Given the description of an element on the screen output the (x, y) to click on. 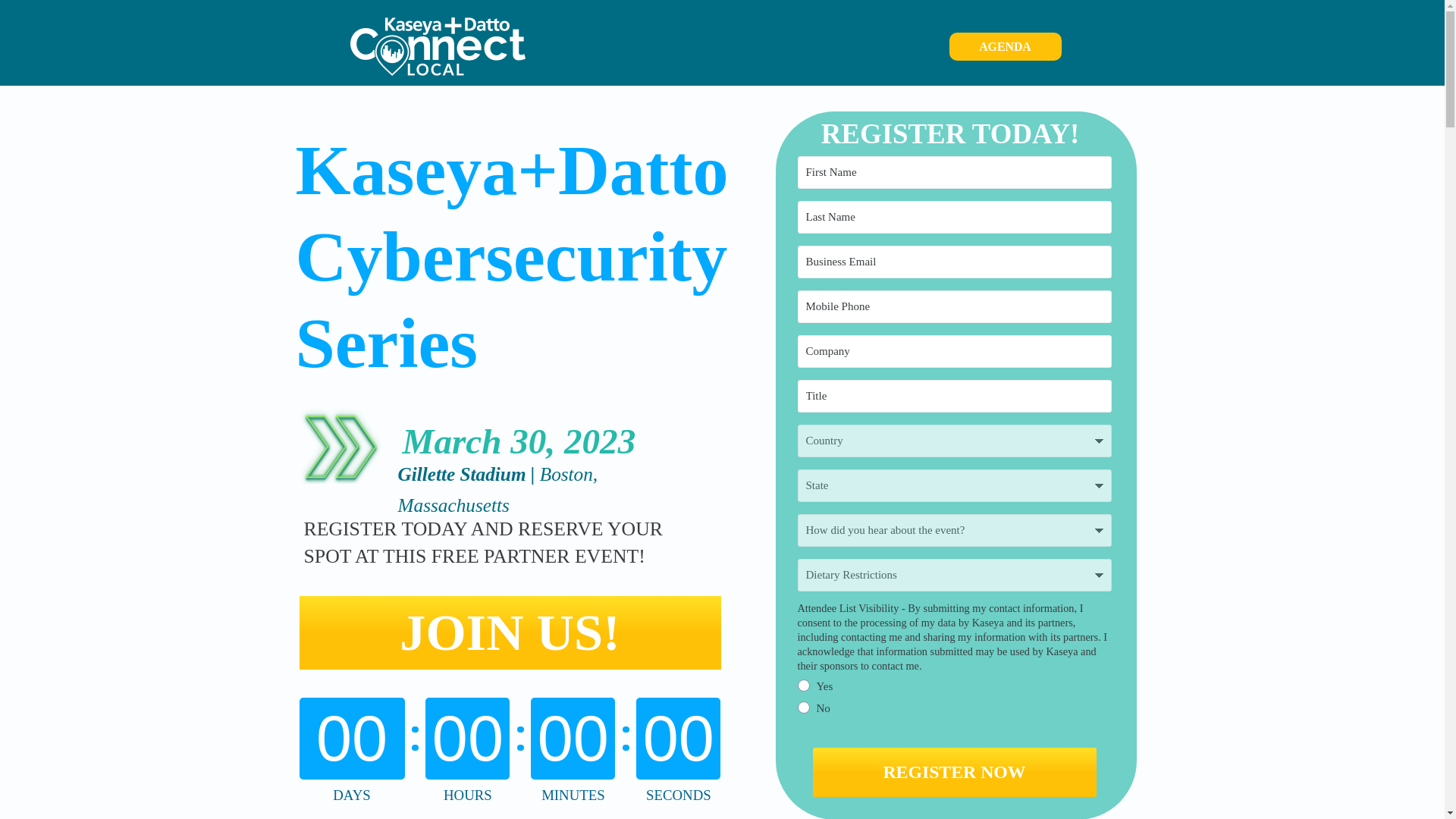
AGENDA (1005, 46)
Dietary Restrictions (954, 574)
JOIN US! (509, 632)
Title (954, 396)
Company (954, 350)
First Name (954, 172)
REGISTER NOW (954, 771)
Last Name (954, 216)
Country (954, 441)
State (954, 485)
How did you hear about the event? (954, 530)
Mobile Phone (954, 306)
Business Email (954, 261)
